Given the description of an element on the screen output the (x, y) to click on. 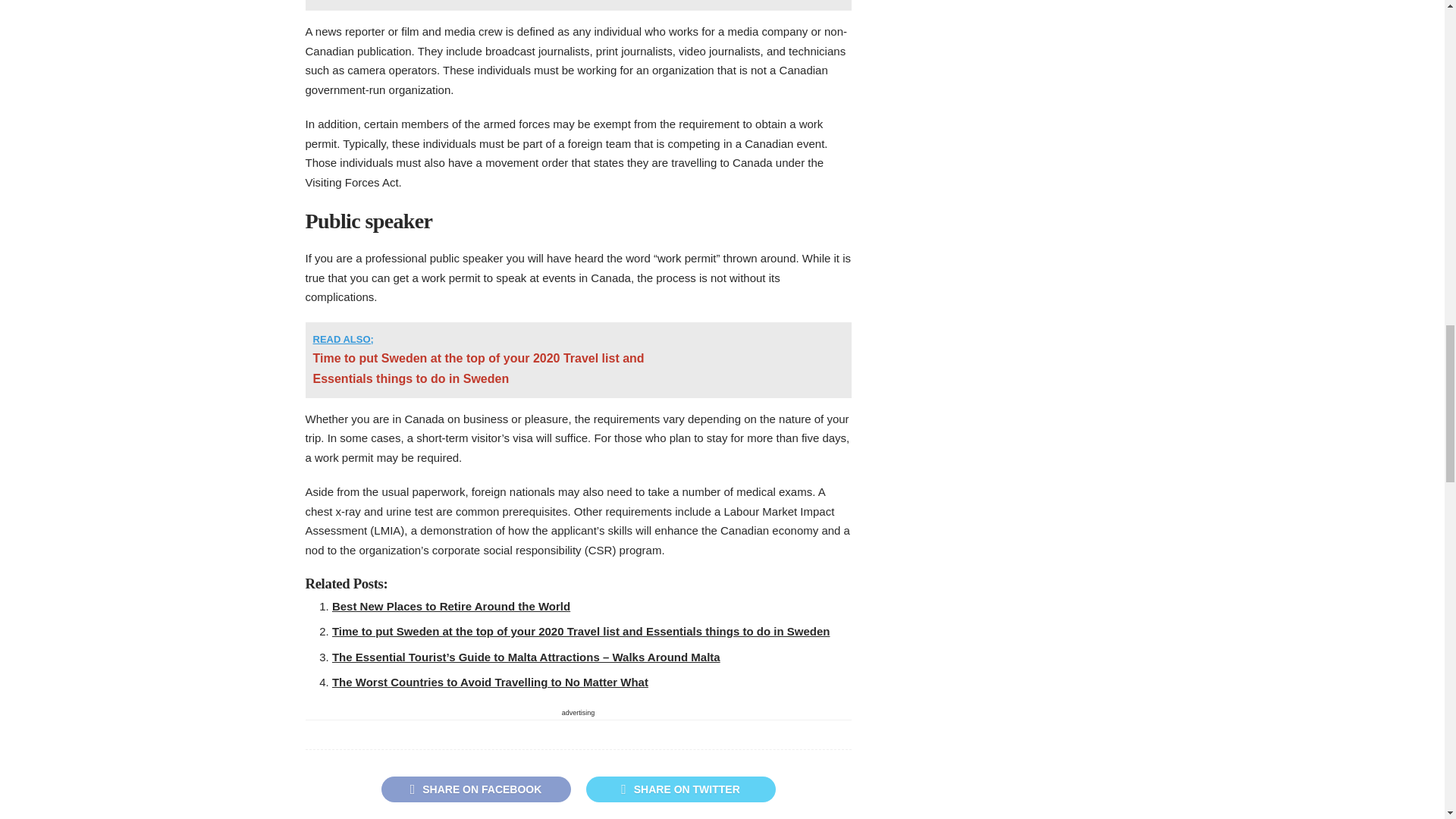
Best New Places to Retire Around the World (450, 605)
The Worst Countries to Avoid Travelling to No Matter What (489, 681)
SHARE ON FACEBOOK (475, 789)
Best New Places to Retire Around the World (450, 605)
SHARE ON TWITTER (679, 789)
The Worst Countries to Avoid Travelling to No Matter What (489, 681)
